Given the description of an element on the screen output the (x, y) to click on. 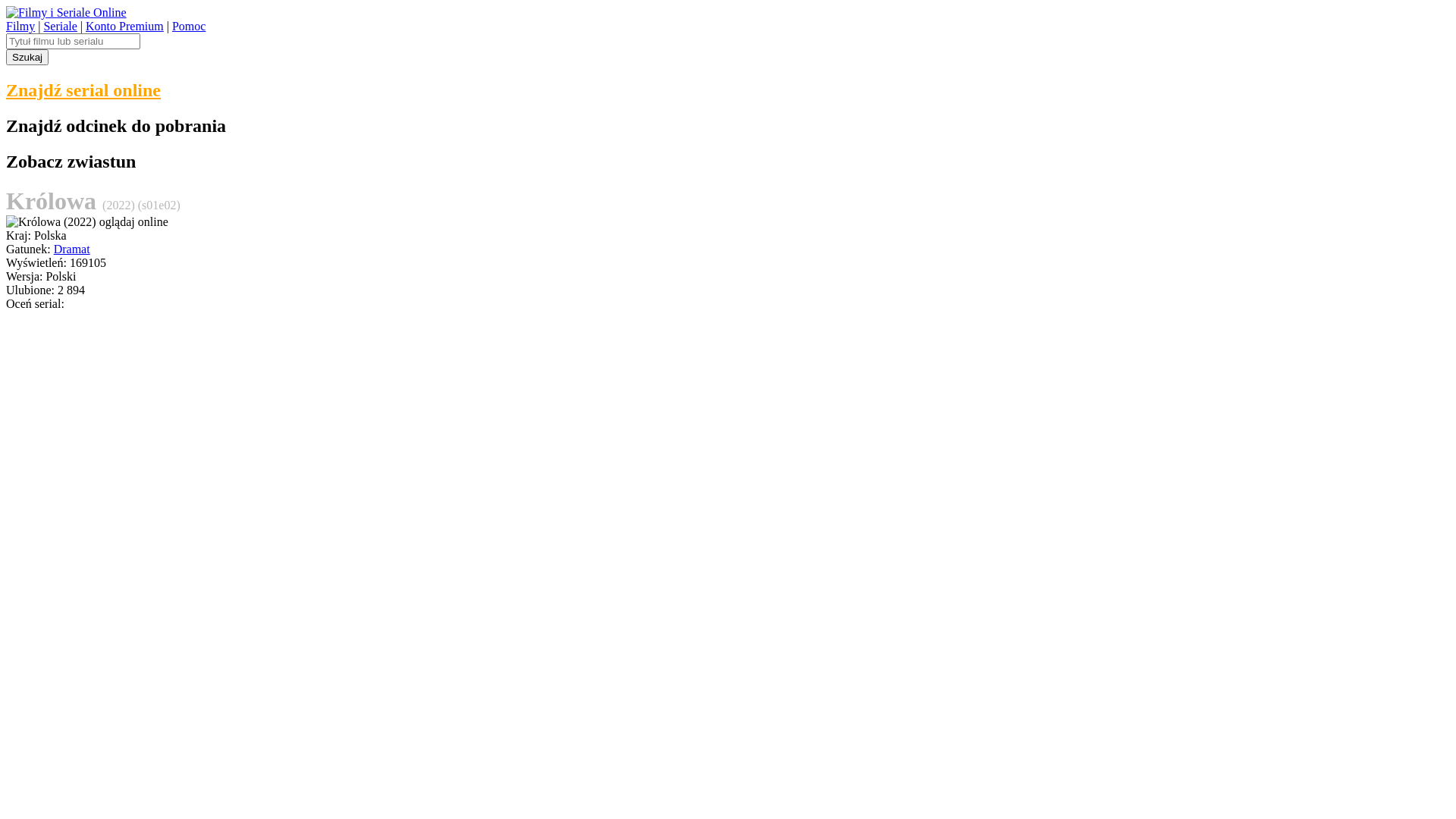
Pomoc Element type: text (188, 25)
Filmy Element type: text (20, 25)
Seriale Element type: text (59, 25)
Szukaj Element type: text (27, 57)
Konto Premium Element type: text (124, 25)
Dramat Element type: text (71, 248)
